Given the description of an element on the screen output the (x, y) to click on. 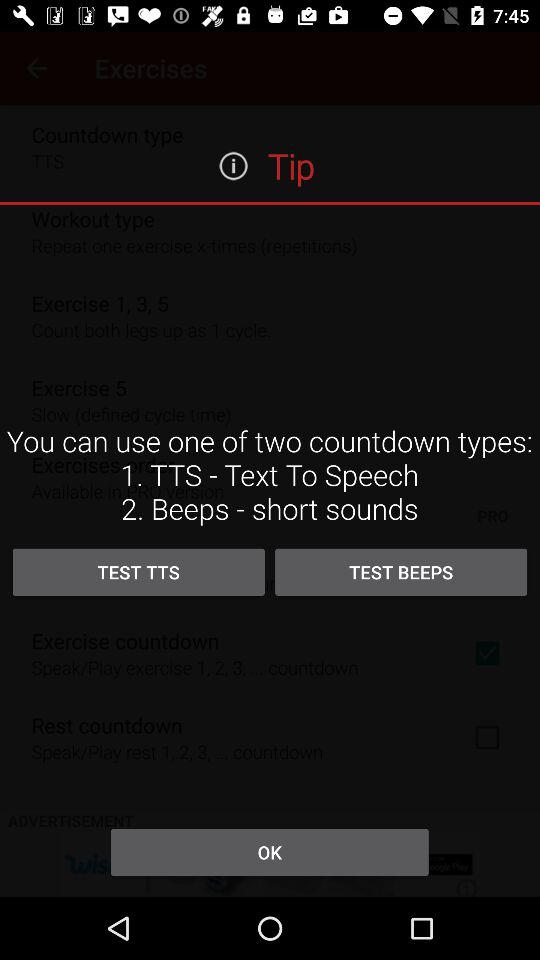
turn on the icon below the test tts (269, 851)
